Given the description of an element on the screen output the (x, y) to click on. 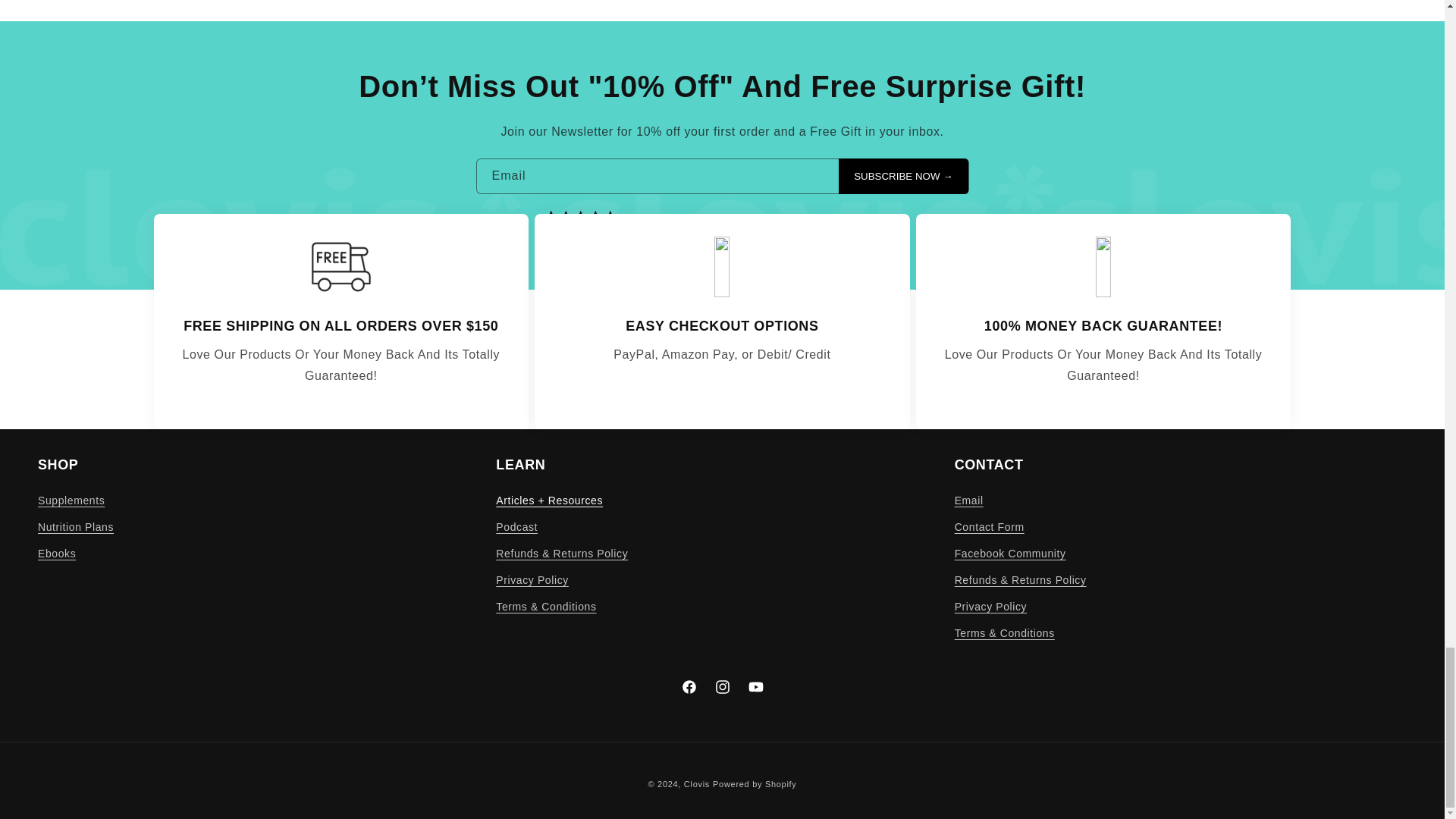
Supplements (70, 501)
Podcast (516, 527)
Nutrition Plans (75, 527)
Ebooks (56, 553)
Privacy Policy (532, 580)
